Given the description of an element on the screen output the (x, y) to click on. 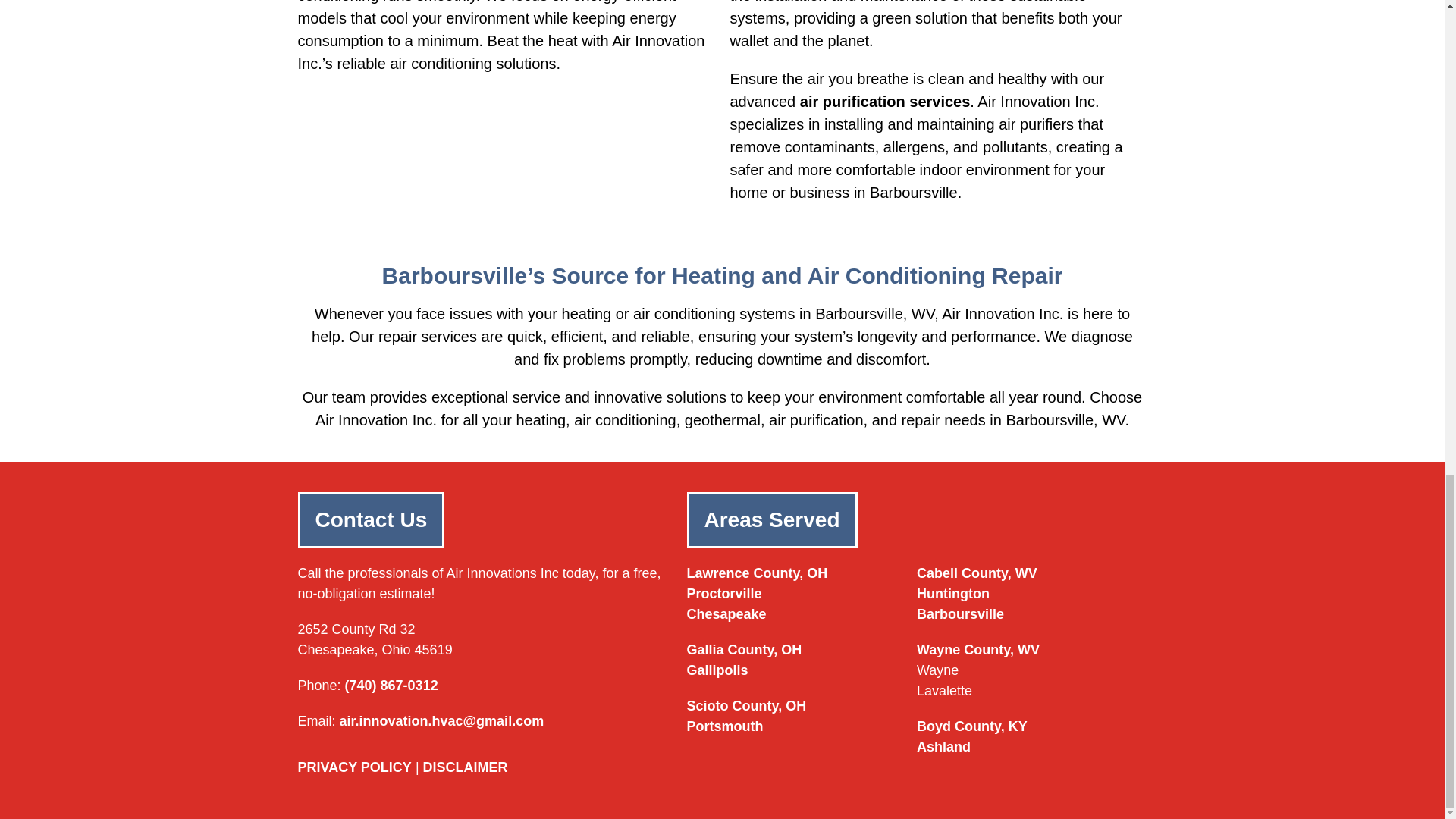
Barboursville (960, 613)
Huntington (953, 593)
PRIVACY POLICY (353, 767)
Gallipolis (717, 670)
Portsmouth (724, 726)
Chesapeake (727, 613)
Proctorville (724, 593)
Ashland (944, 746)
air purification services (885, 101)
DISCLAIMER (465, 767)
